Given the description of an element on the screen output the (x, y) to click on. 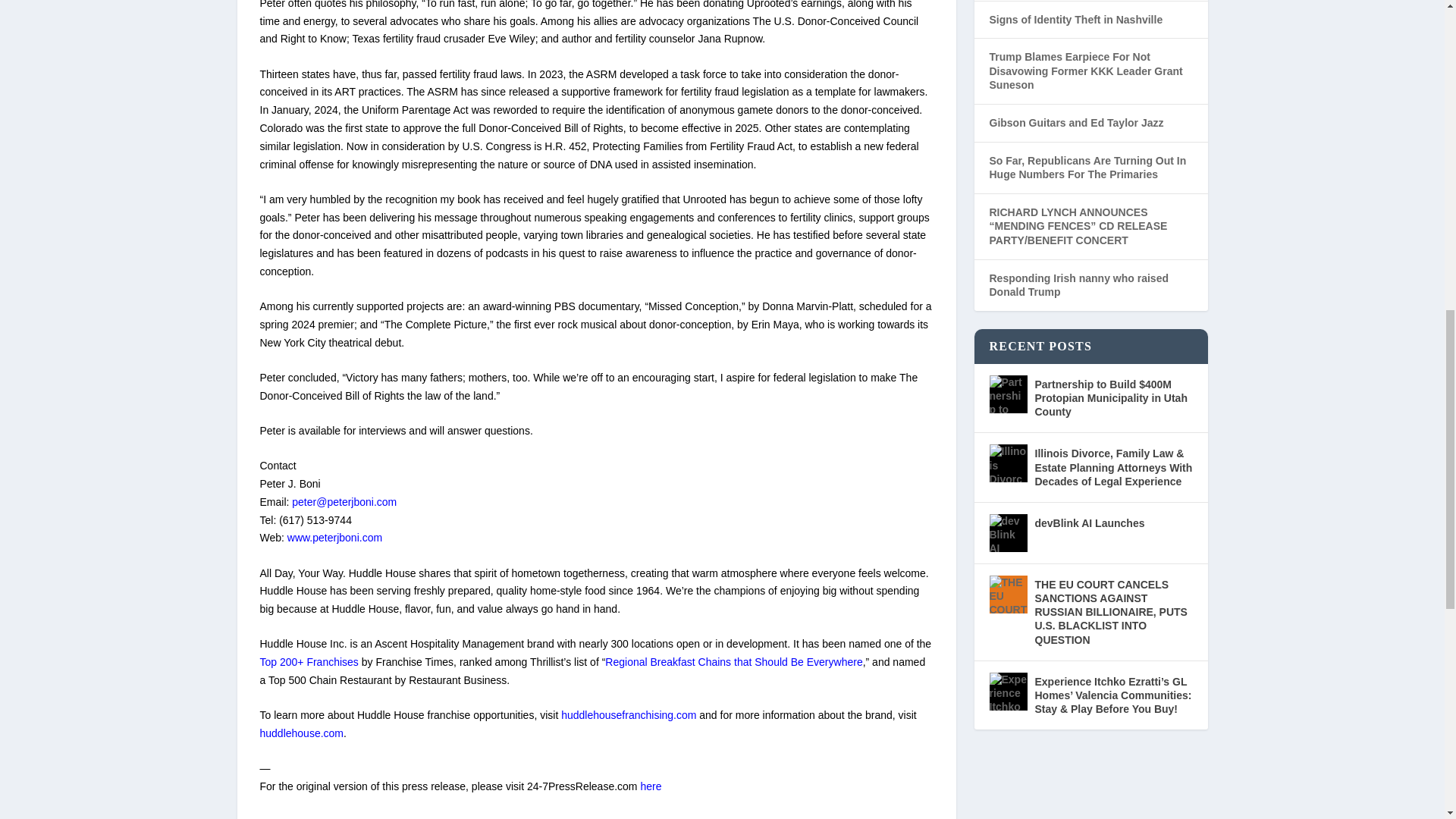
huddlehousefranchising.com (627, 715)
Regional Breakfast Chains that Should Be Everywhere (733, 662)
here (650, 786)
huddlehouse.com (301, 733)
devBlink AI Launches (1007, 533)
www.peterjboni.com (333, 537)
